Given the description of an element on the screen output the (x, y) to click on. 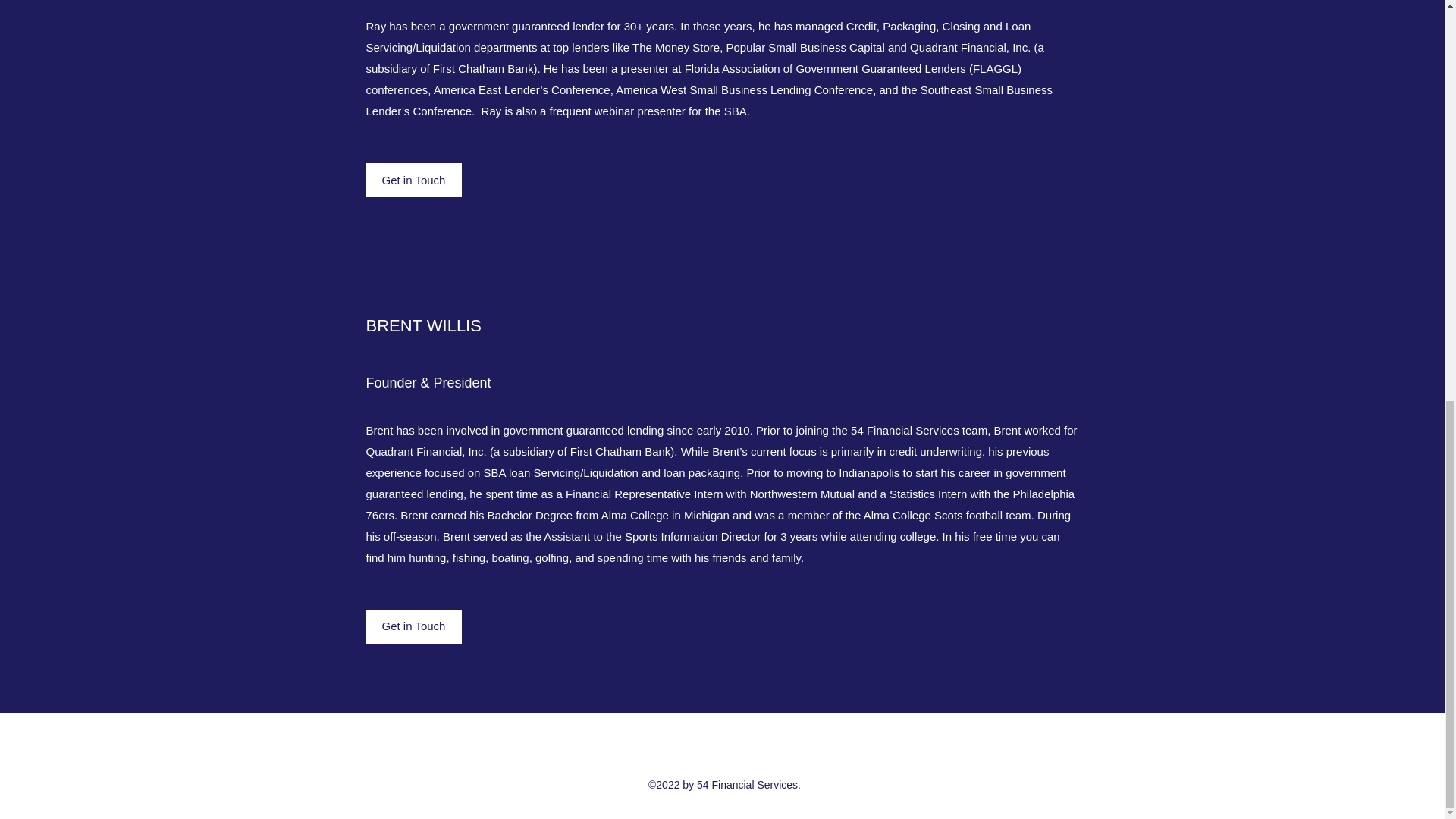
Get in Touch (413, 179)
Get in Touch (413, 626)
